Given the description of an element on the screen output the (x, y) to click on. 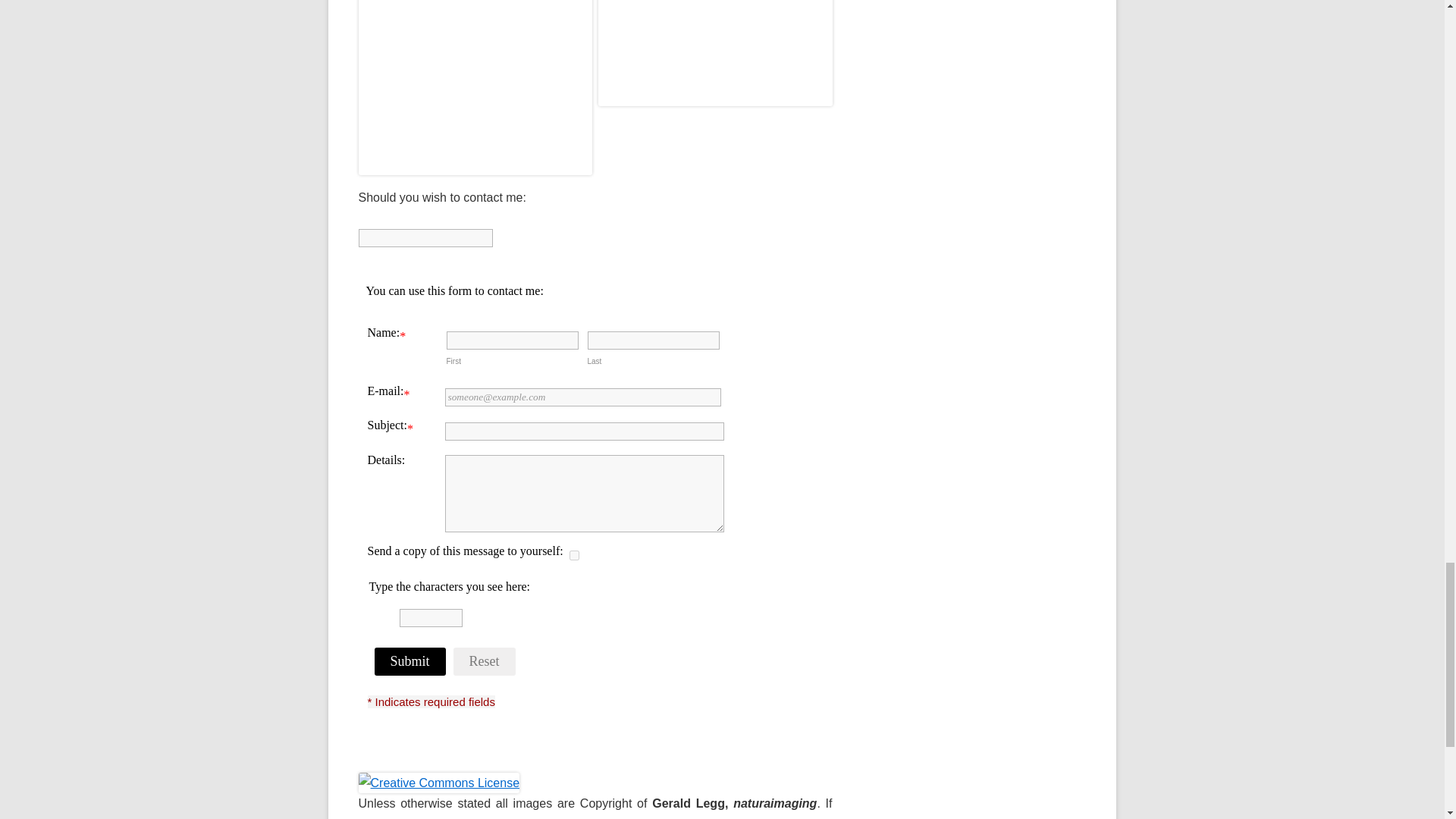
on (573, 555)
